Given the description of an element on the screen output the (x, y) to click on. 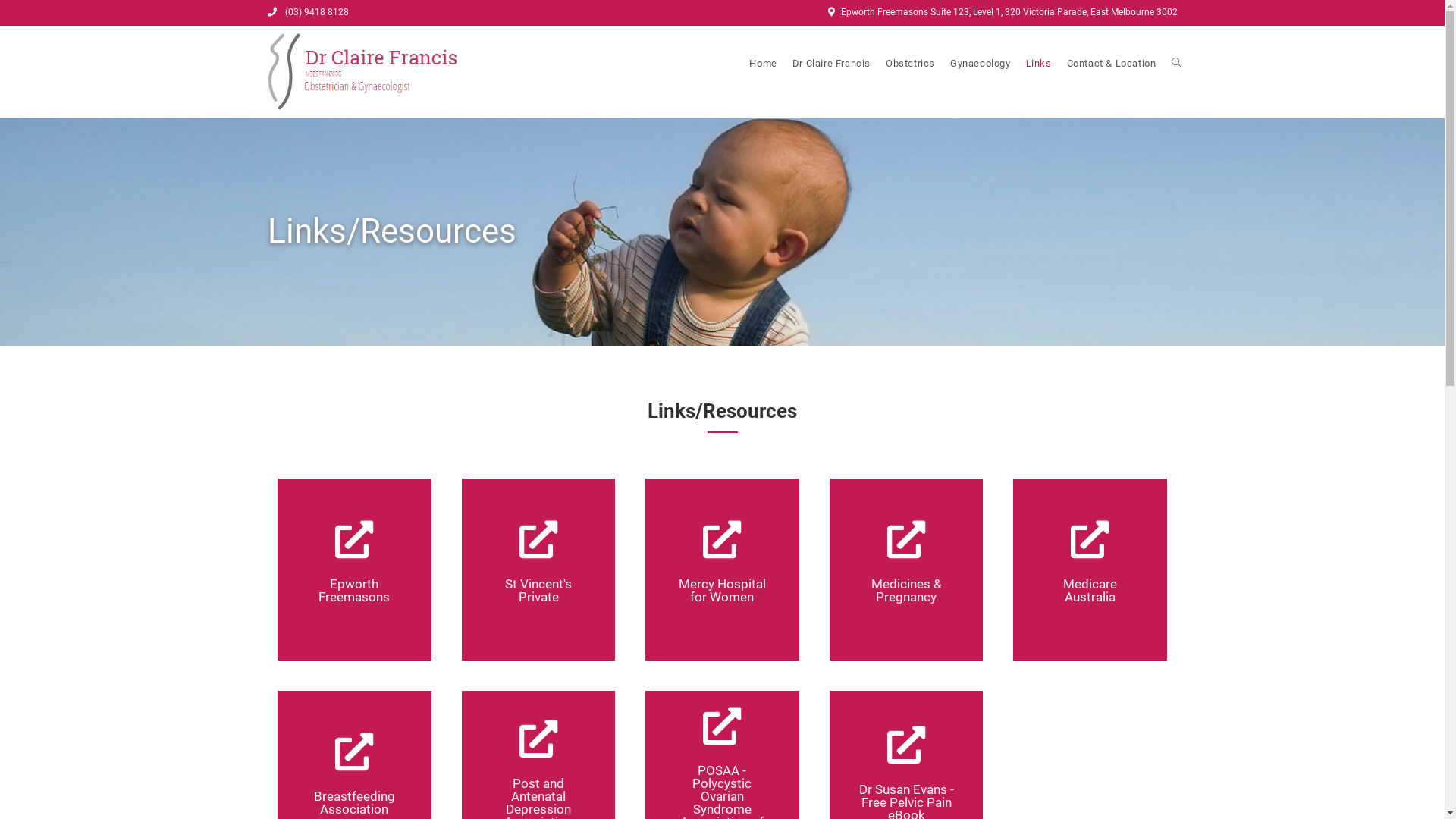
READ MORE Element type: text (545, 571)
Links Element type: text (1038, 63)
READ MORE Element type: text (913, 571)
READ MORE Element type: text (1097, 571)
READ MORE Element type: text (729, 783)
READ MORE Element type: text (729, 571)
Gynaecology Element type: text (980, 63)
Obstetrics Element type: text (910, 63)
Contact & Location Element type: text (1111, 63)
READ MORE Element type: text (361, 571)
(03) 9418 8128 Element type: text (315, 11)
READ MORE Element type: text (361, 783)
READ MORE Element type: text (545, 783)
Dr Claire Francis Element type: text (831, 63)
Home Element type: text (762, 63)
